Given the description of an element on the screen output the (x, y) to click on. 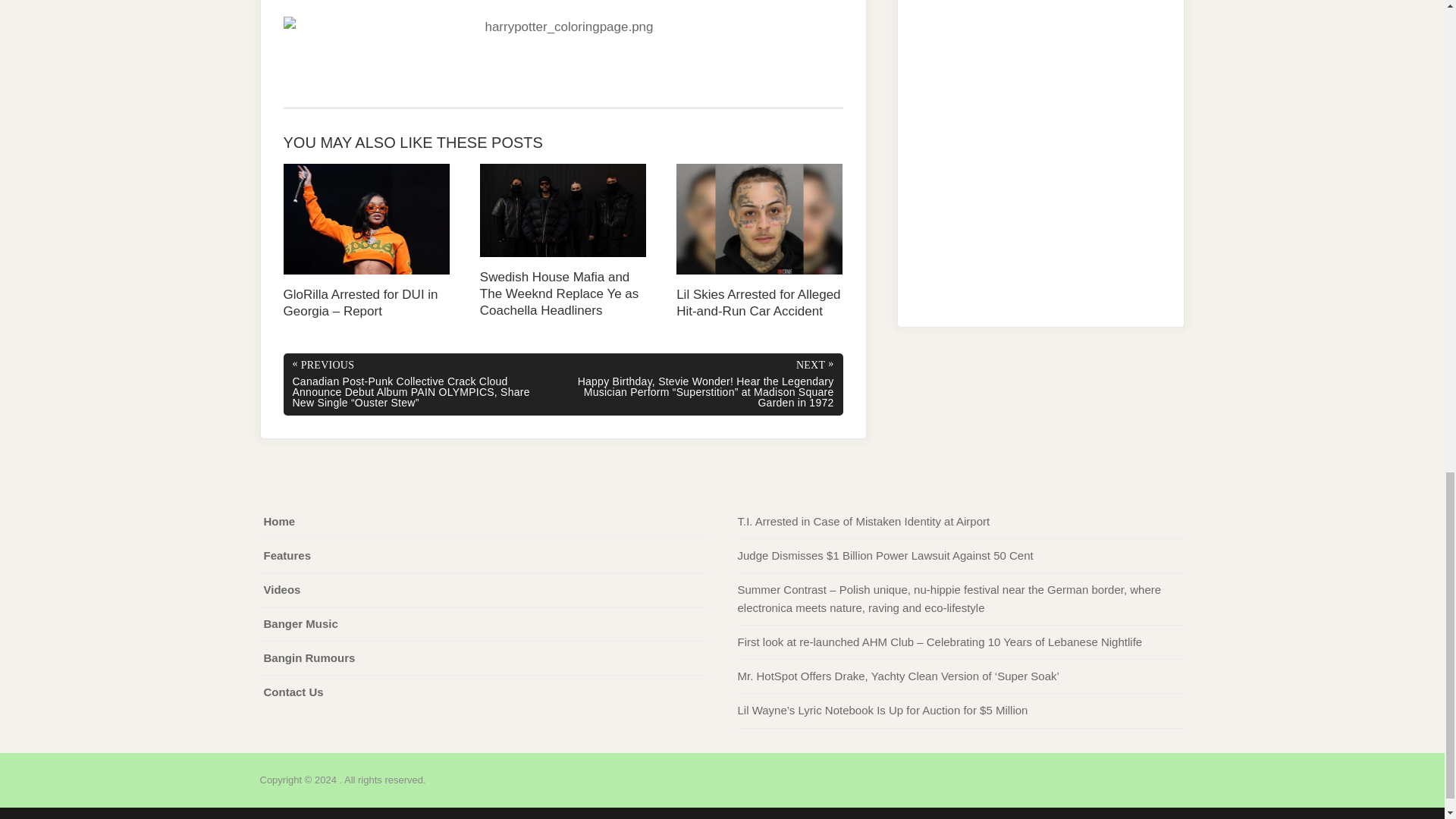
Bangin Rumours (309, 657)
Lil Skies Arrested for Alleged Hit-and-Run Car Accident (760, 242)
Banger Music (300, 623)
T.I. Arrested in Case of Mistaken Identity at Airport (863, 521)
Contact Us (293, 692)
Features (287, 555)
Videos (282, 589)
Home (279, 521)
